Given the description of an element on the screen output the (x, y) to click on. 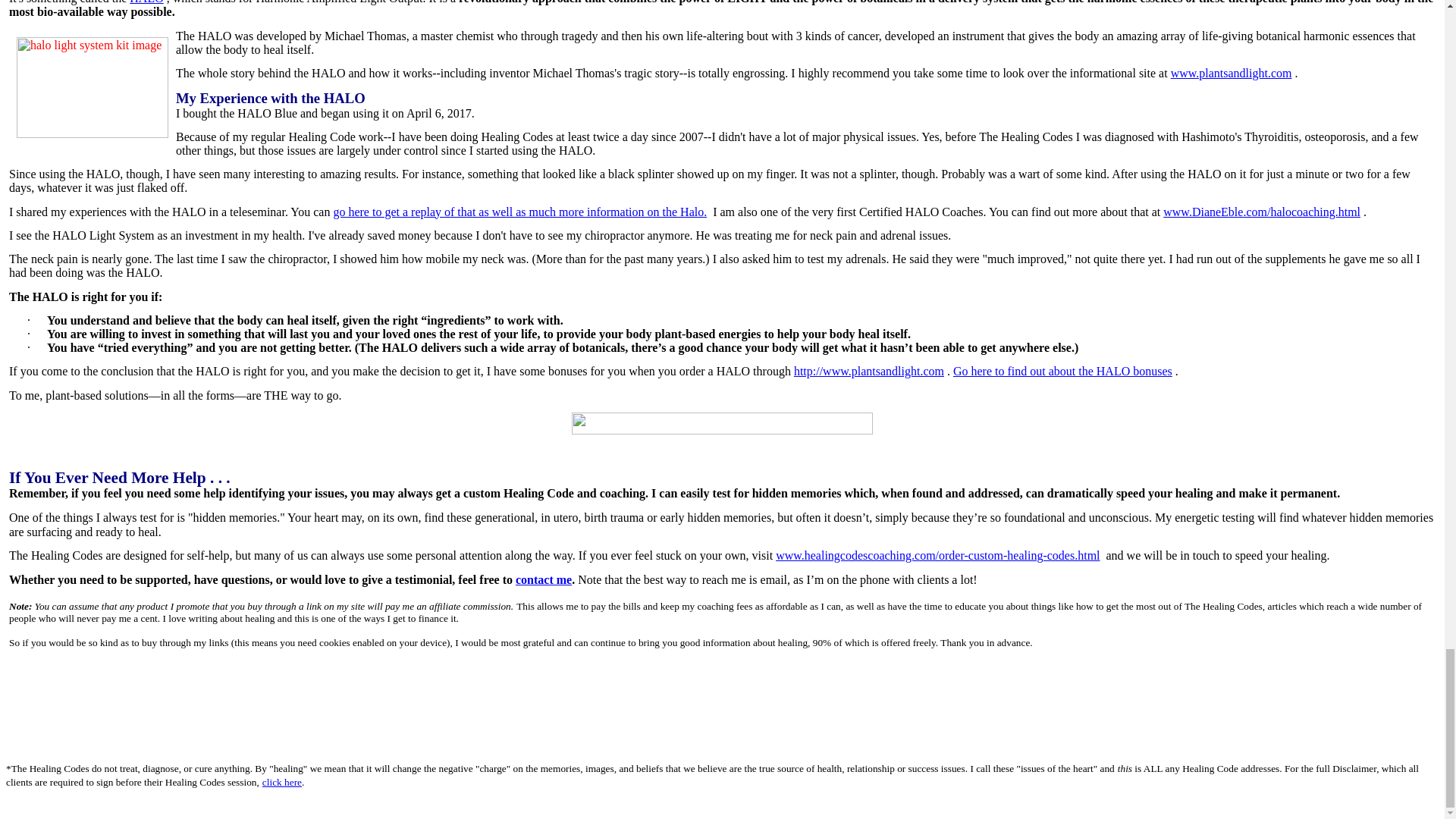
www.plantsandlight.com (1231, 72)
HALO (146, 2)
Go here to find out about the HALO bonuses (1062, 370)
